Given the description of an element on the screen output the (x, y) to click on. 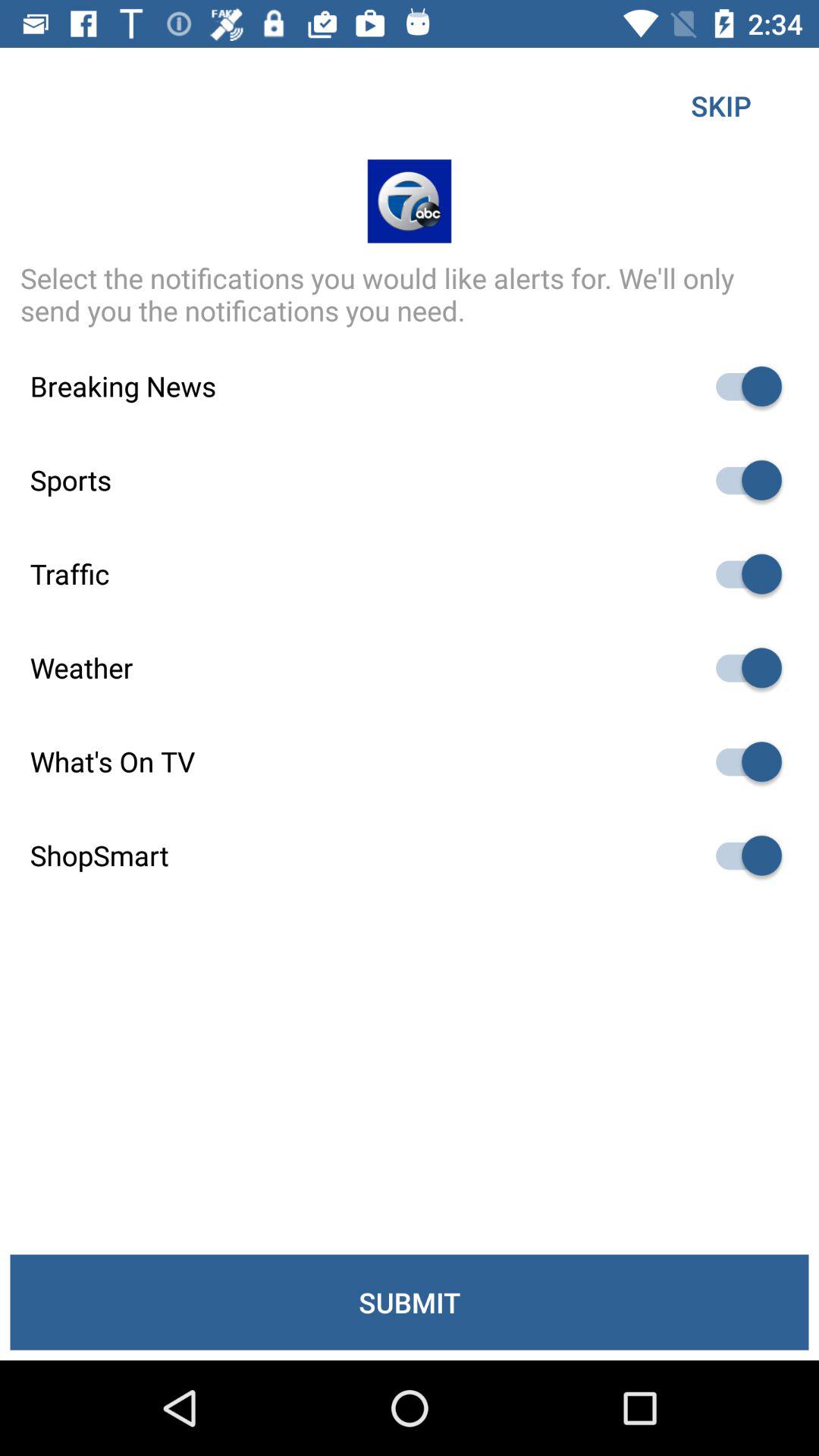
toggle on or off (741, 855)
